Given the description of an element on the screen output the (x, y) to click on. 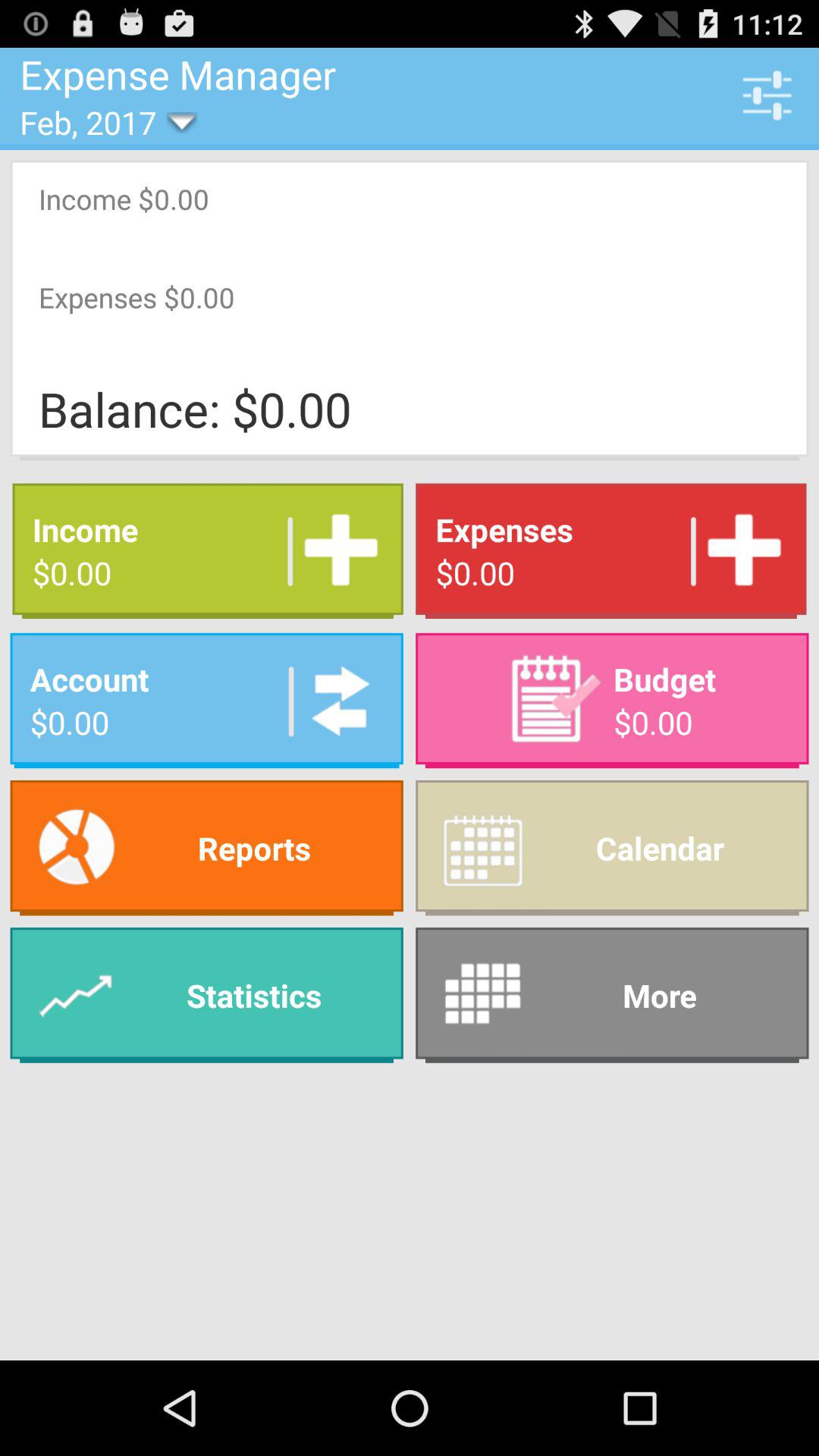
turn on app next to reports item (611, 847)
